Given the description of an element on the screen output the (x, y) to click on. 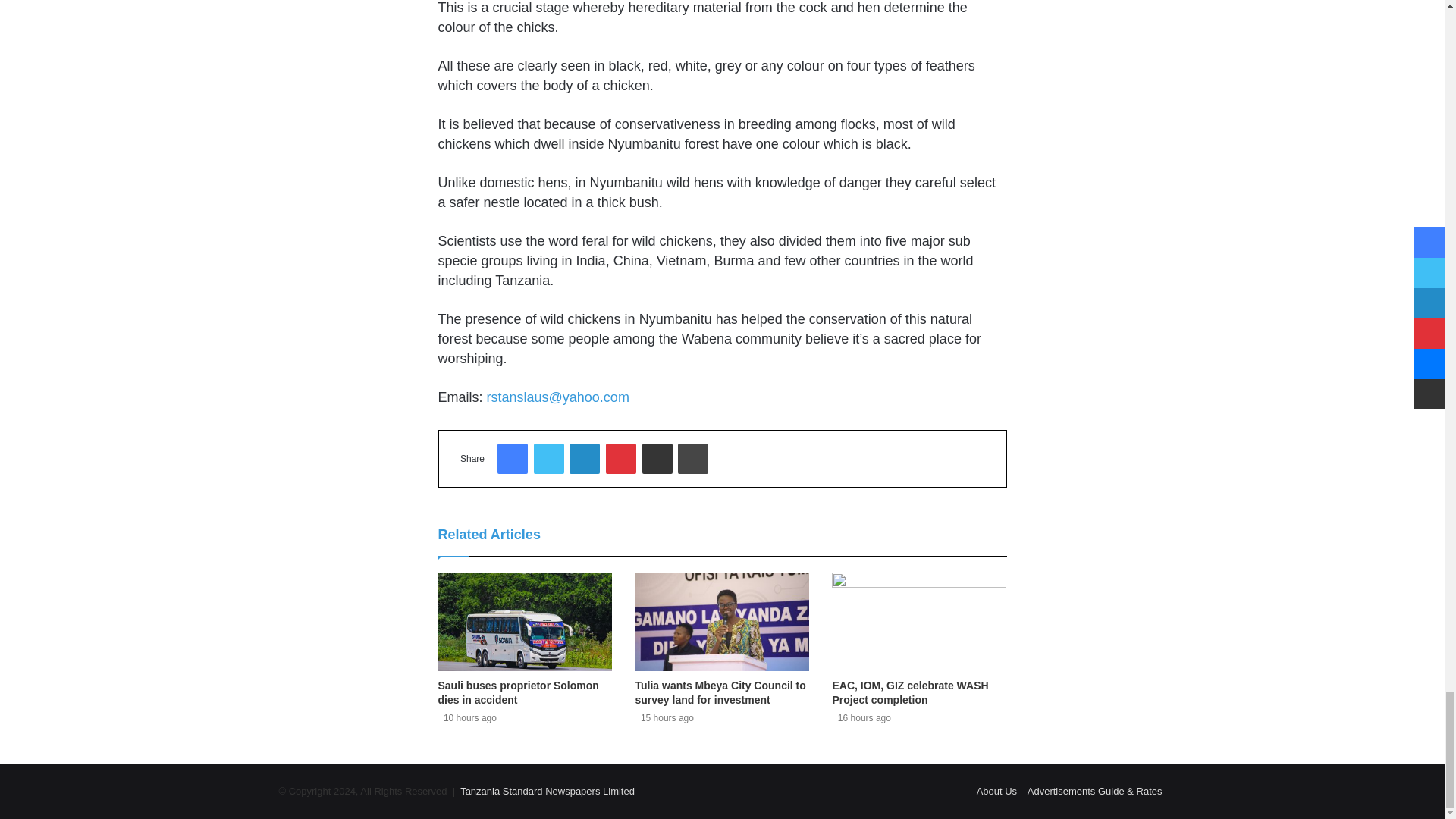
Print (692, 458)
Facebook (512, 458)
LinkedIn (584, 458)
Twitter (549, 458)
LinkedIn (584, 458)
Share via Email (656, 458)
Pinterest (620, 458)
Pinterest (620, 458)
Facebook (512, 458)
Twitter (549, 458)
